Given the description of an element on the screen output the (x, y) to click on. 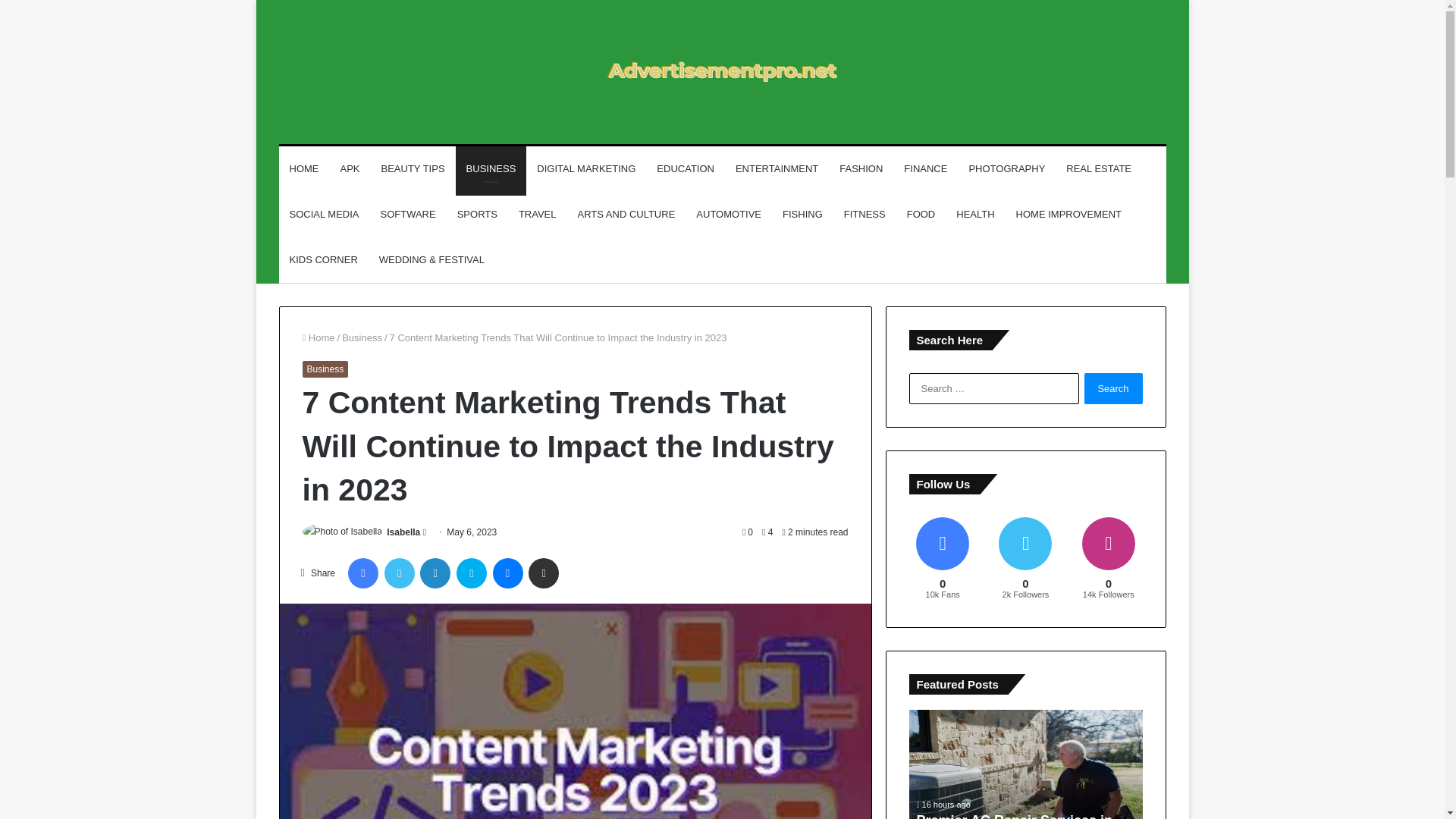
HEALTH (974, 214)
SOFTWARE (407, 214)
SOCIAL MEDIA (324, 214)
LinkedIn (434, 572)
Messenger (507, 572)
Skype (471, 572)
Search (1113, 388)
Facebook (362, 572)
FINANCE (925, 168)
EDUCATION (685, 168)
